Given the description of an element on the screen output the (x, y) to click on. 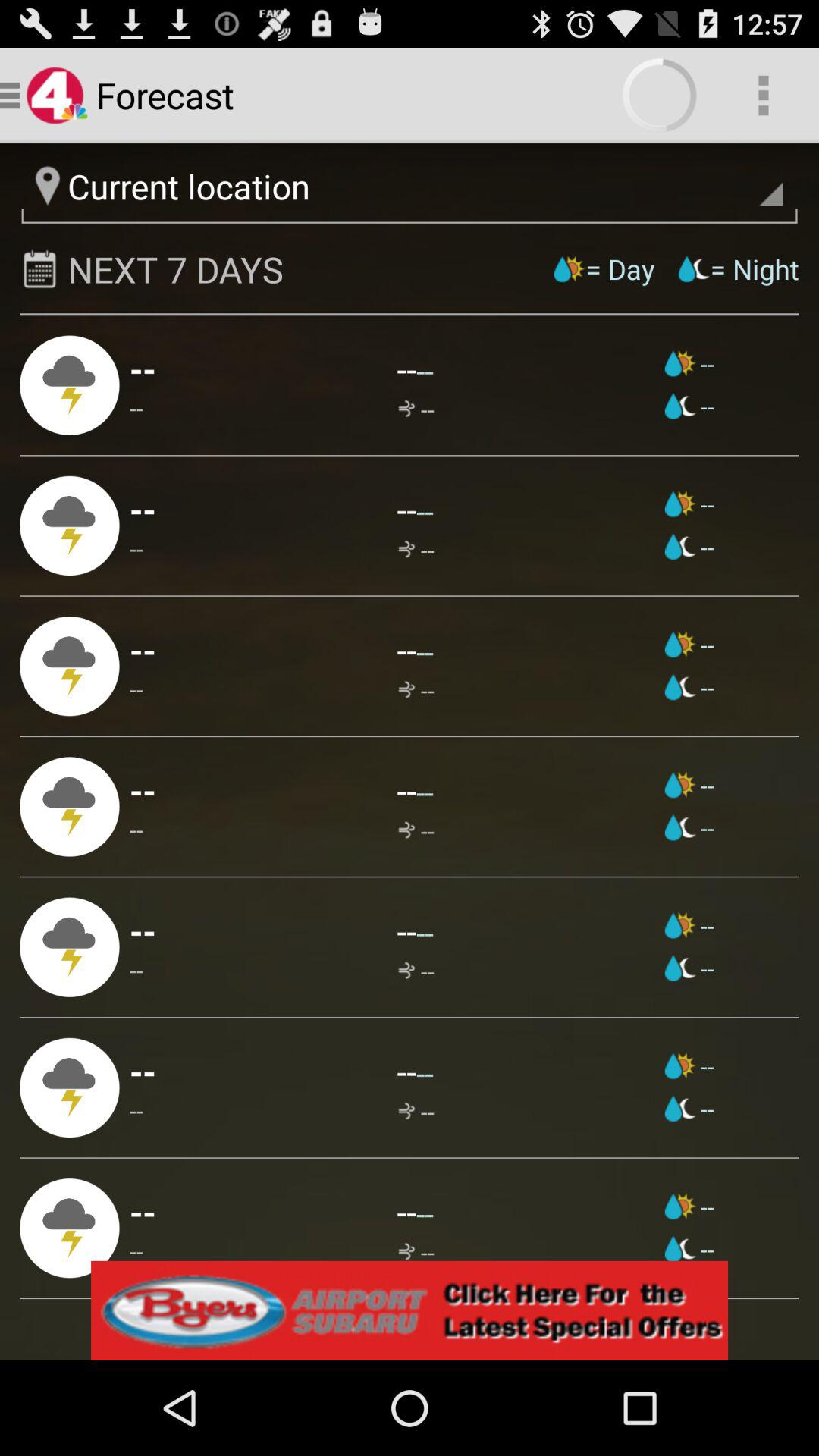
tap the -- item (136, 829)
